Given the description of an element on the screen output the (x, y) to click on. 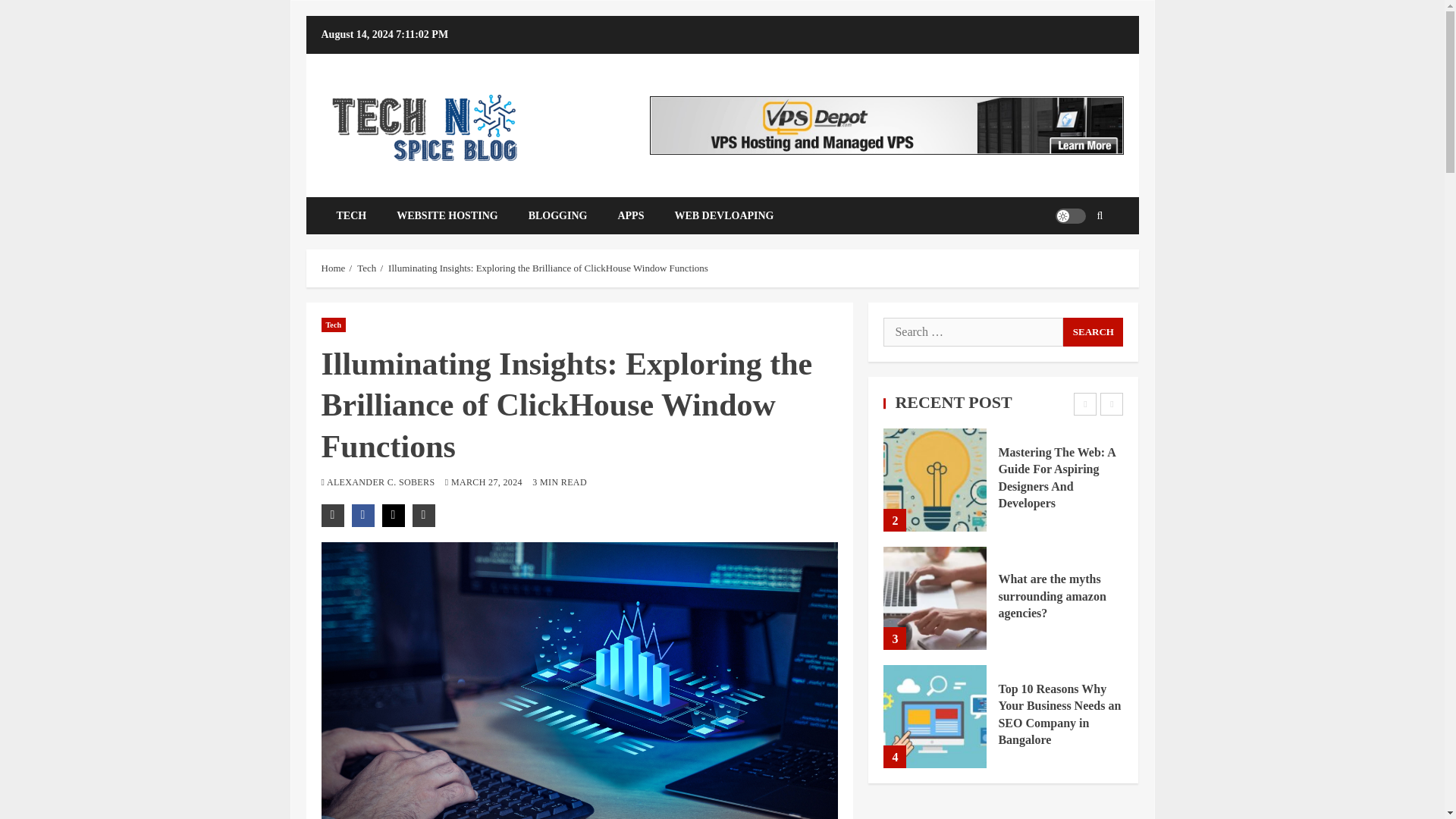
Search (1092, 331)
ALEXANDER C. SOBERS (382, 481)
WEB DEVLOAPING (724, 215)
Tech (333, 324)
TECH (351, 215)
Search (1092, 331)
WEBSITE HOSTING (446, 215)
APPS (630, 215)
BLOGGING (557, 215)
